Given the description of an element on the screen output the (x, y) to click on. 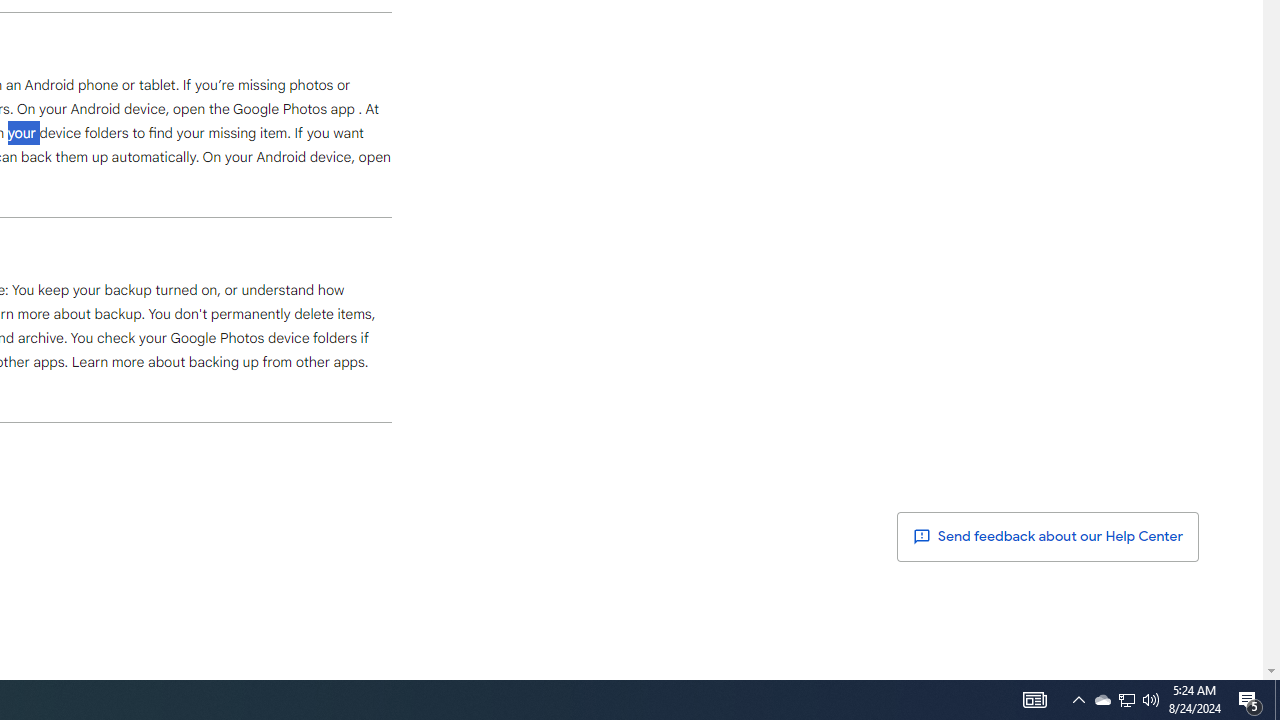
 Send feedback about our Help Center (1048, 536)
